Given the description of an element on the screen output the (x, y) to click on. 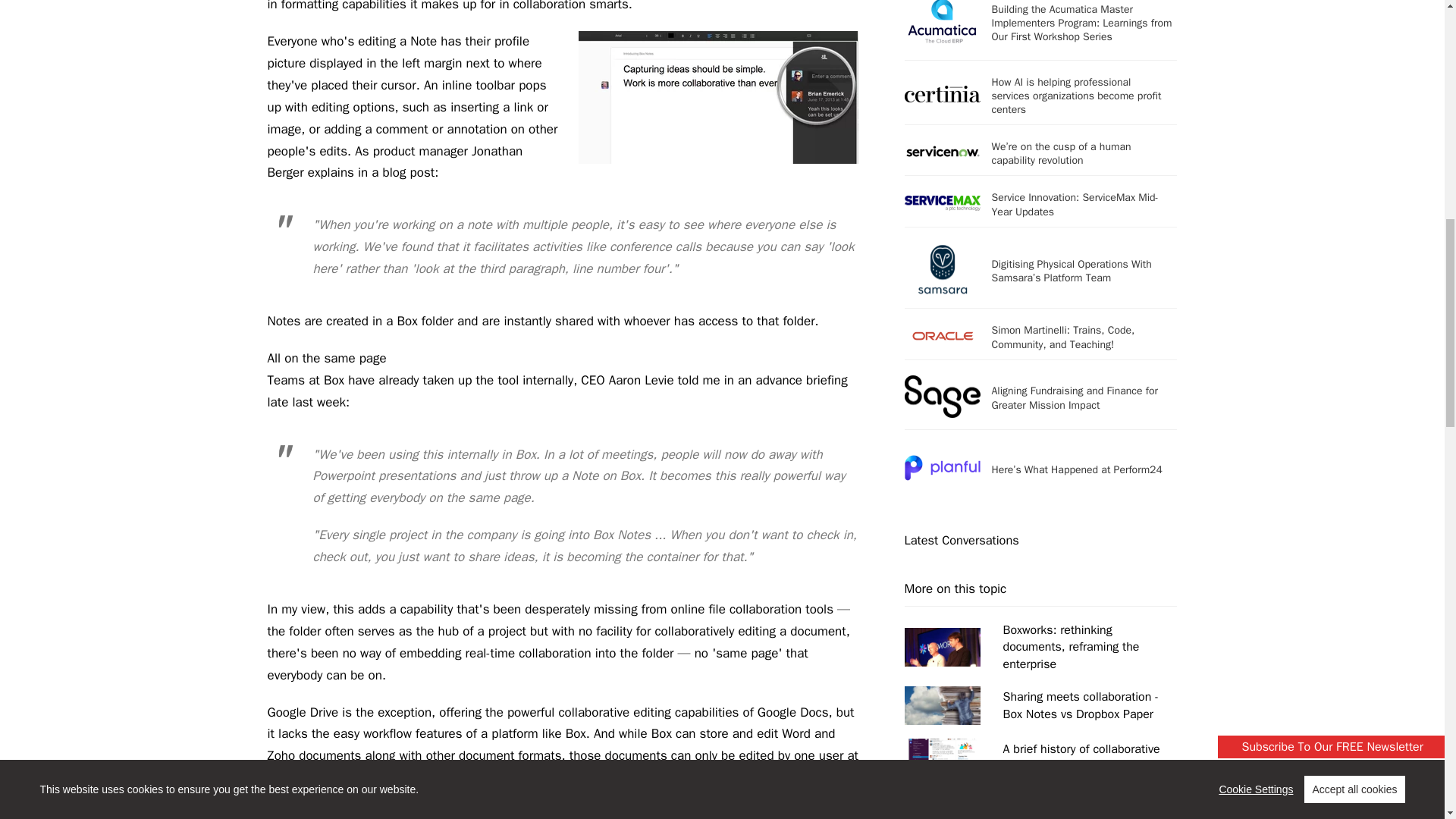
Sharing meets collaboration - Box Notes vs Dropbox Paper (1040, 705)
Boxworks: rethinking documents, reframing the enterprise (1040, 646)
A brief history of collaborative documents (1040, 757)
